Given the description of an element on the screen output the (x, y) to click on. 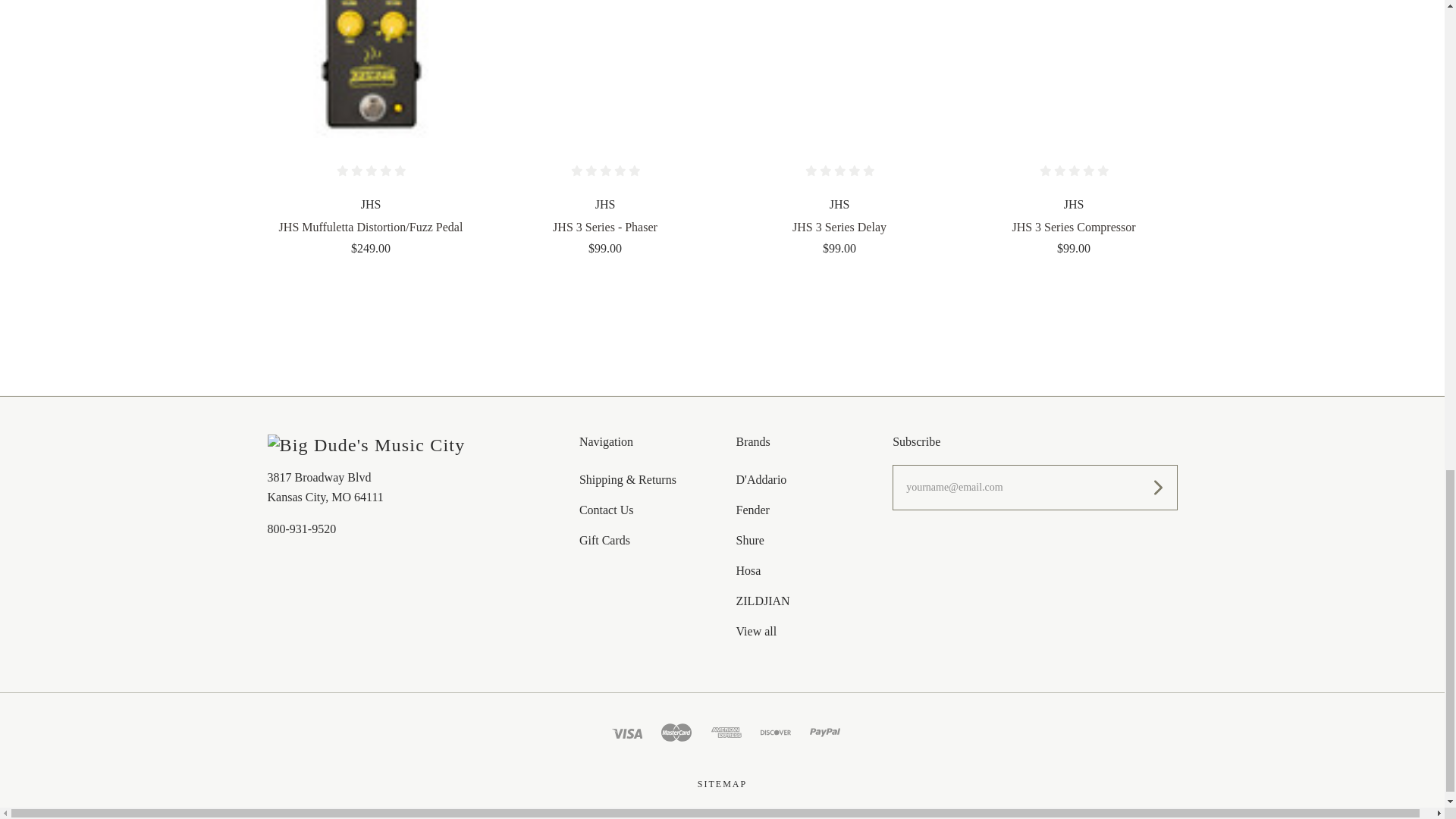
JHS 3 Series Compressor (1073, 69)
JHS 3 Series Delay (839, 69)
Big Dude's Music City (365, 445)
